Given the description of an element on the screen output the (x, y) to click on. 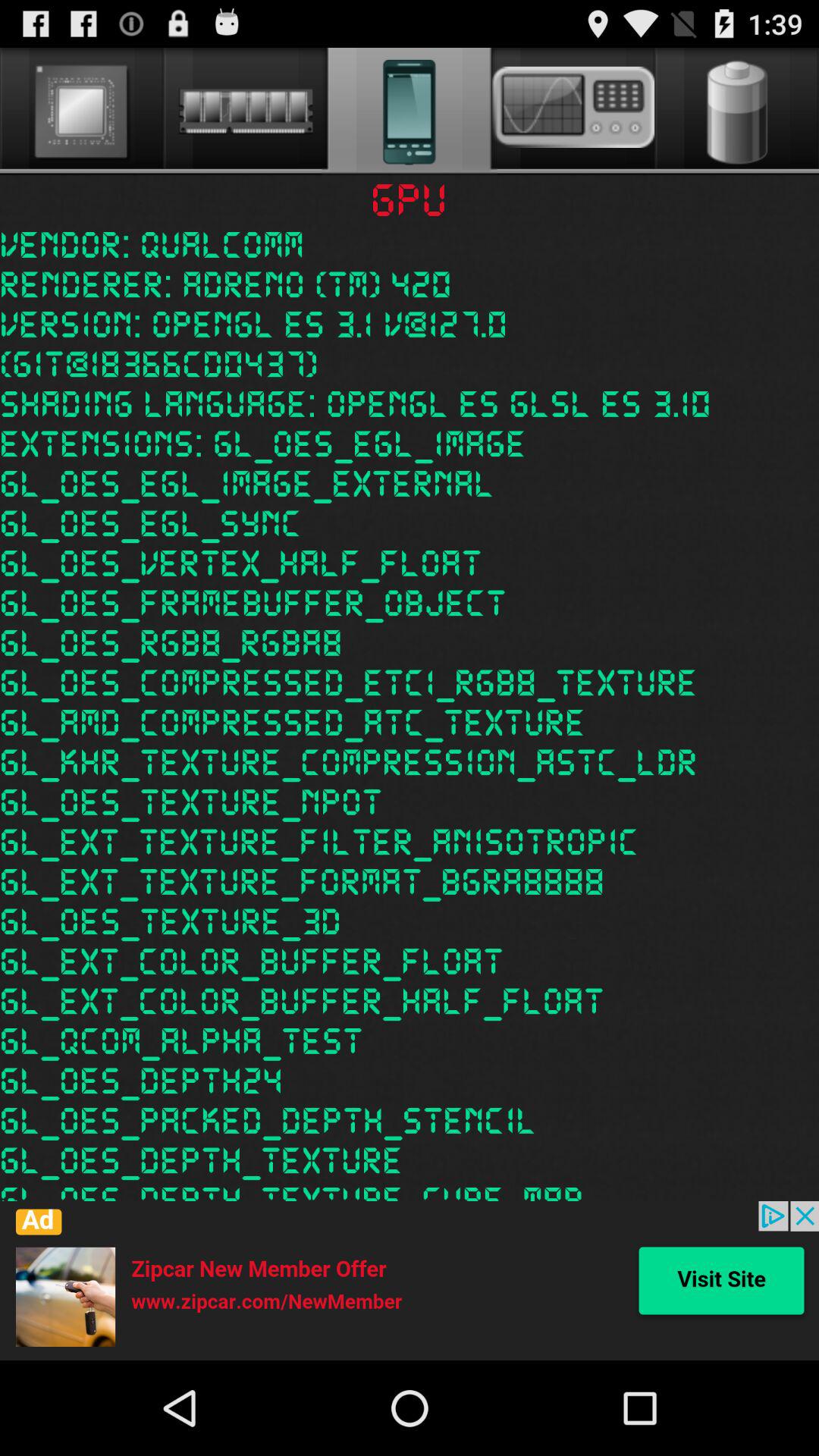
advertise (409, 1280)
